Given the description of an element on the screen output the (x, y) to click on. 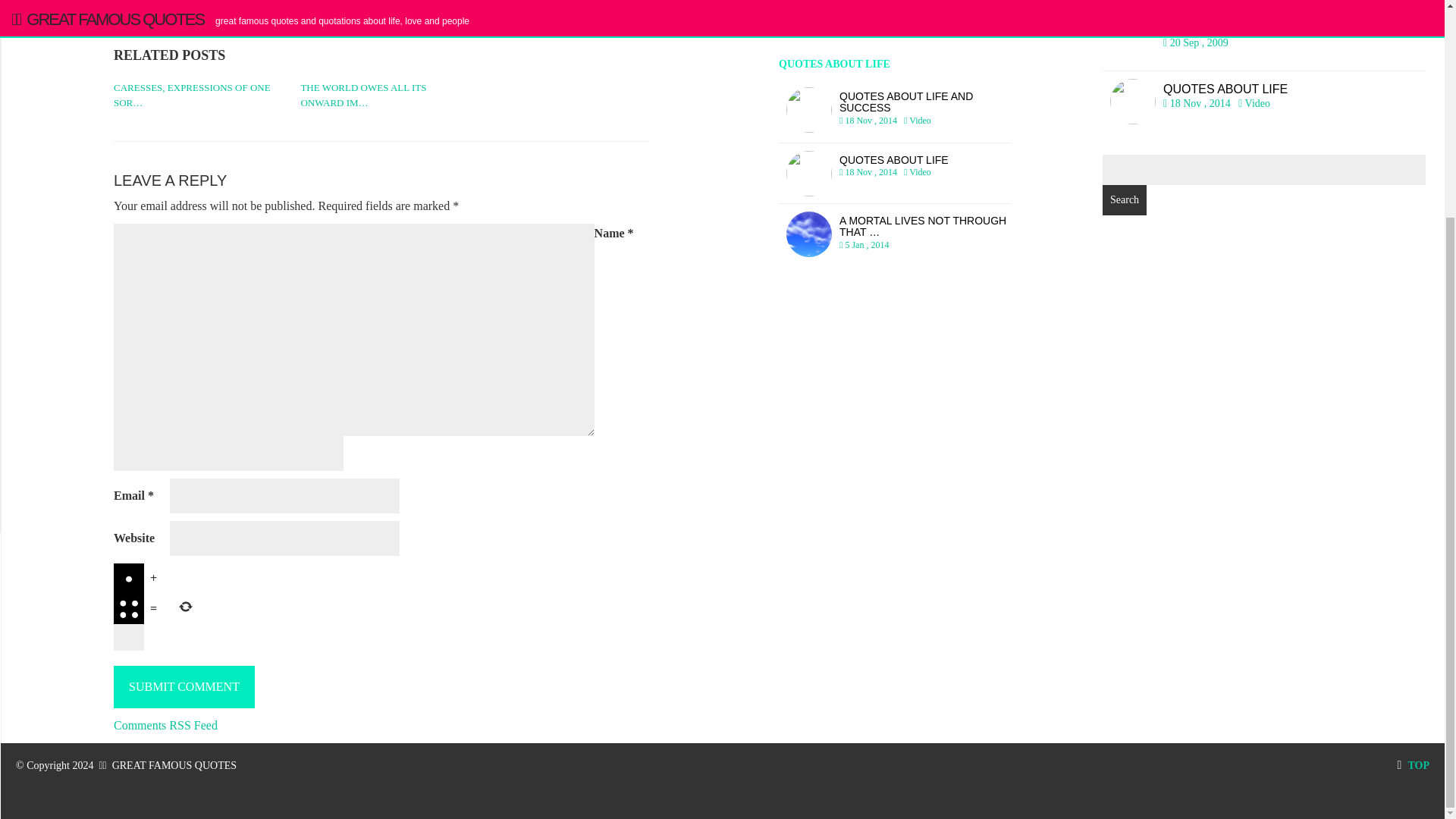
Search (1124, 200)
Submit Comment (894, 173)
TOP (183, 686)
Hawthorne Nathaniel (1263, 101)
Search (1412, 765)
Comments RSS Feed (172, 27)
